Given the description of an element on the screen output the (x, y) to click on. 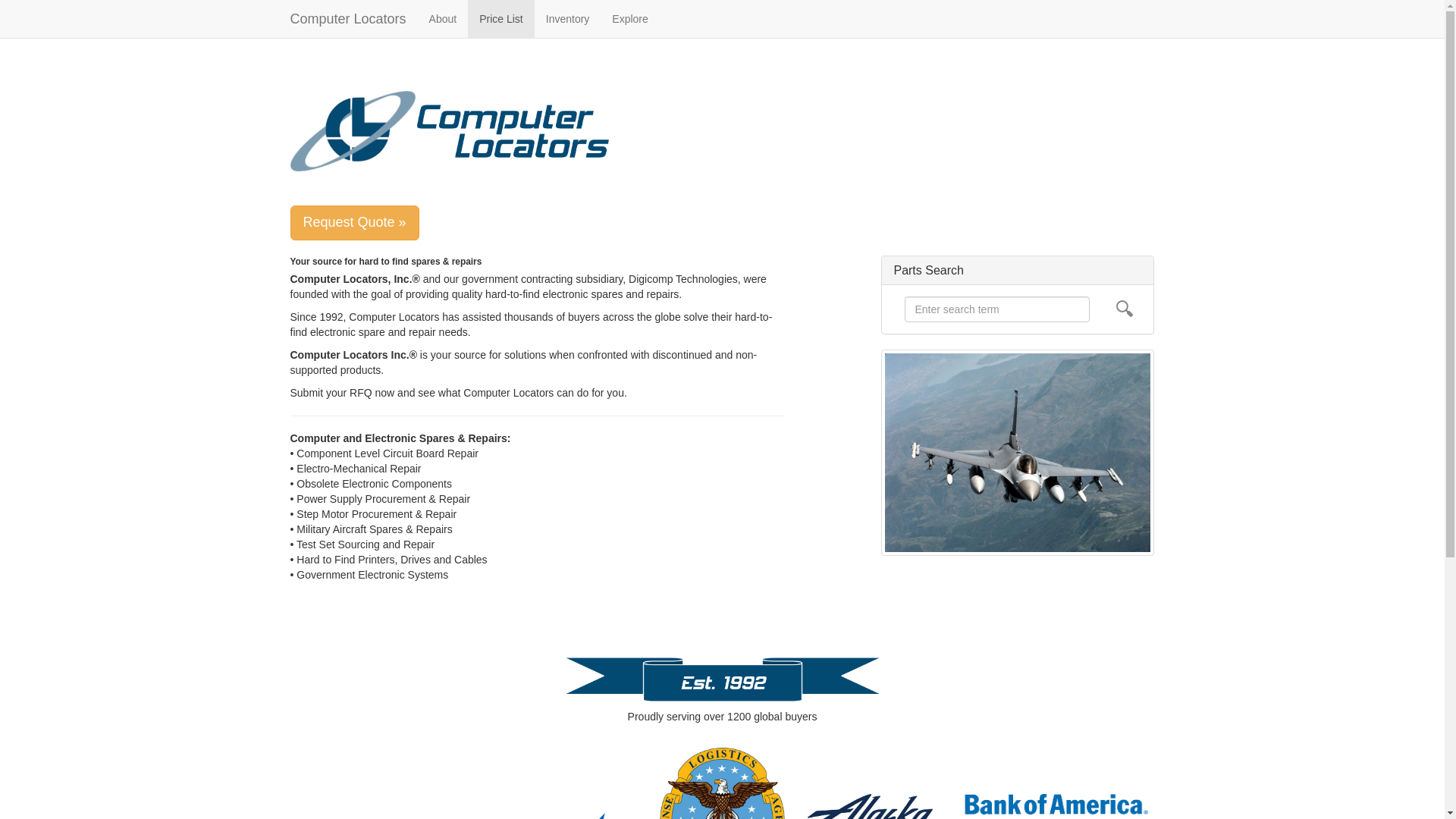
Computer Locators (348, 18)
Inventory (567, 18)
About (442, 18)
Price List (500, 18)
Explore (629, 18)
